Given the description of an element on the screen output the (x, y) to click on. 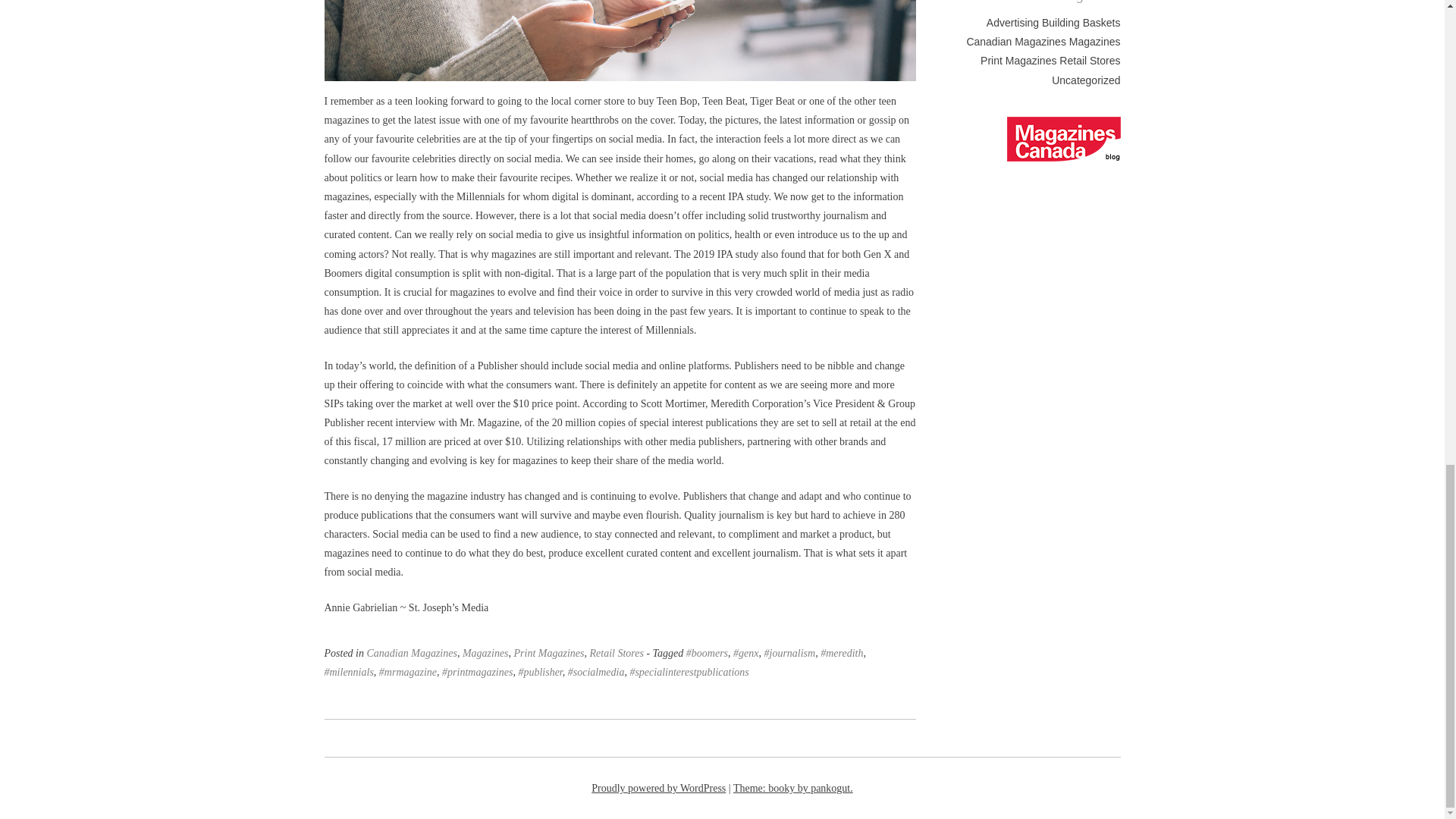
click to cont... (1064, 139)
Retail Stores (616, 653)
Print Magazines (549, 653)
Canadian Magazines (411, 653)
Magazines (485, 653)
